Given the description of an element on the screen output the (x, y) to click on. 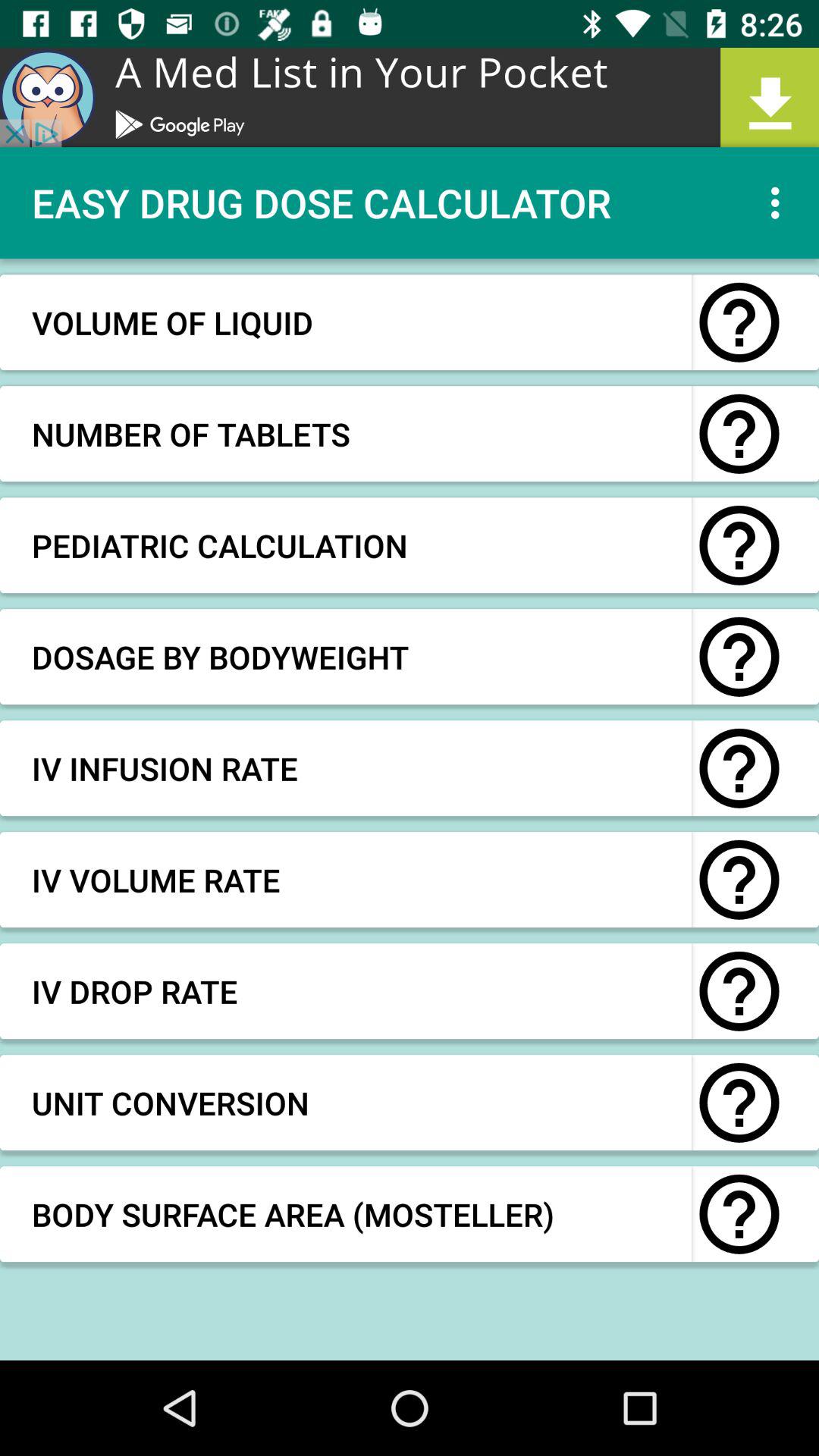
more information (739, 433)
